Given the description of an element on the screen output the (x, y) to click on. 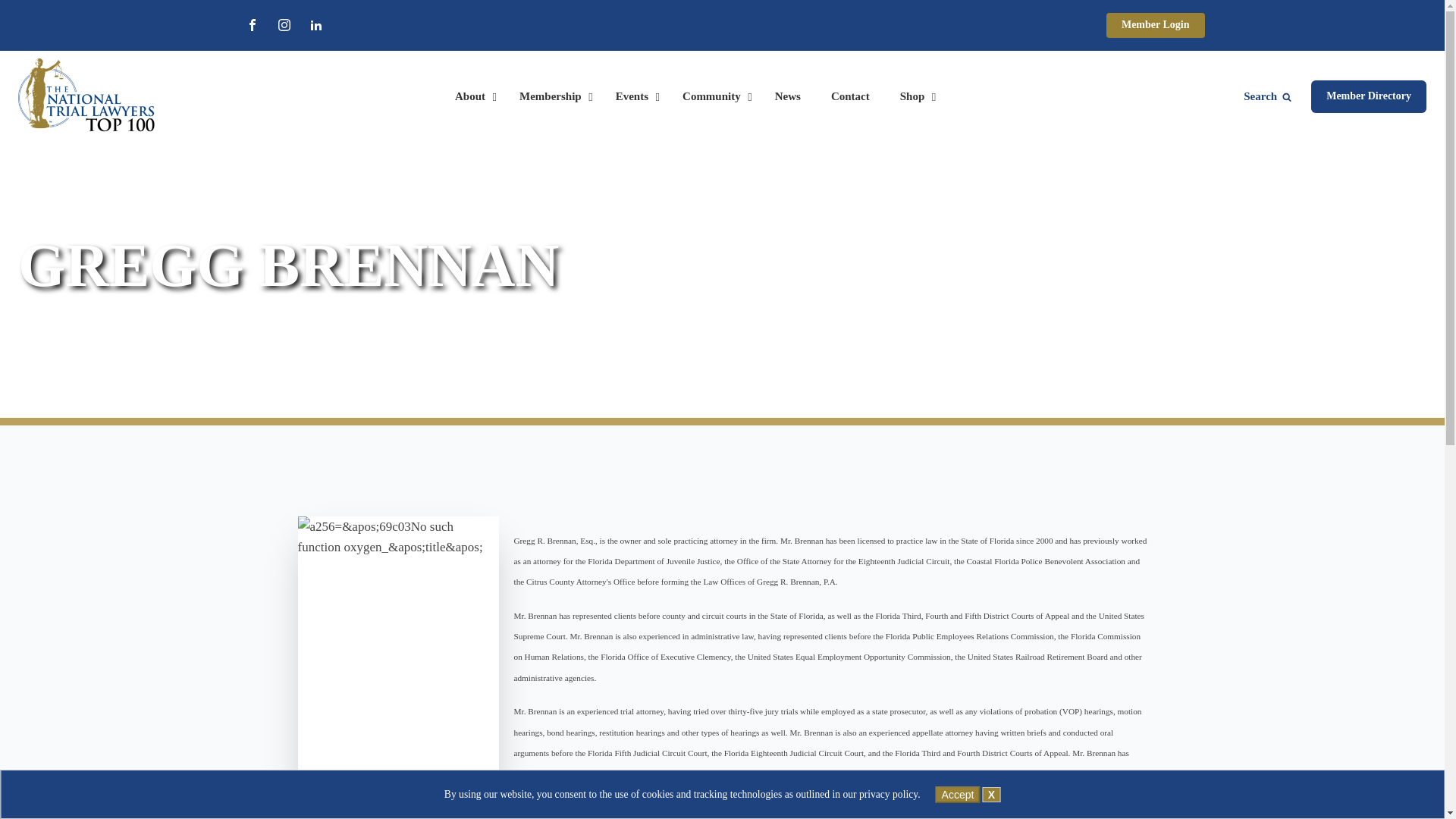
About (471, 96)
X (991, 794)
Membership (551, 96)
Member Login (1155, 25)
Accept (957, 794)
